Given the description of an element on the screen output the (x, y) to click on. 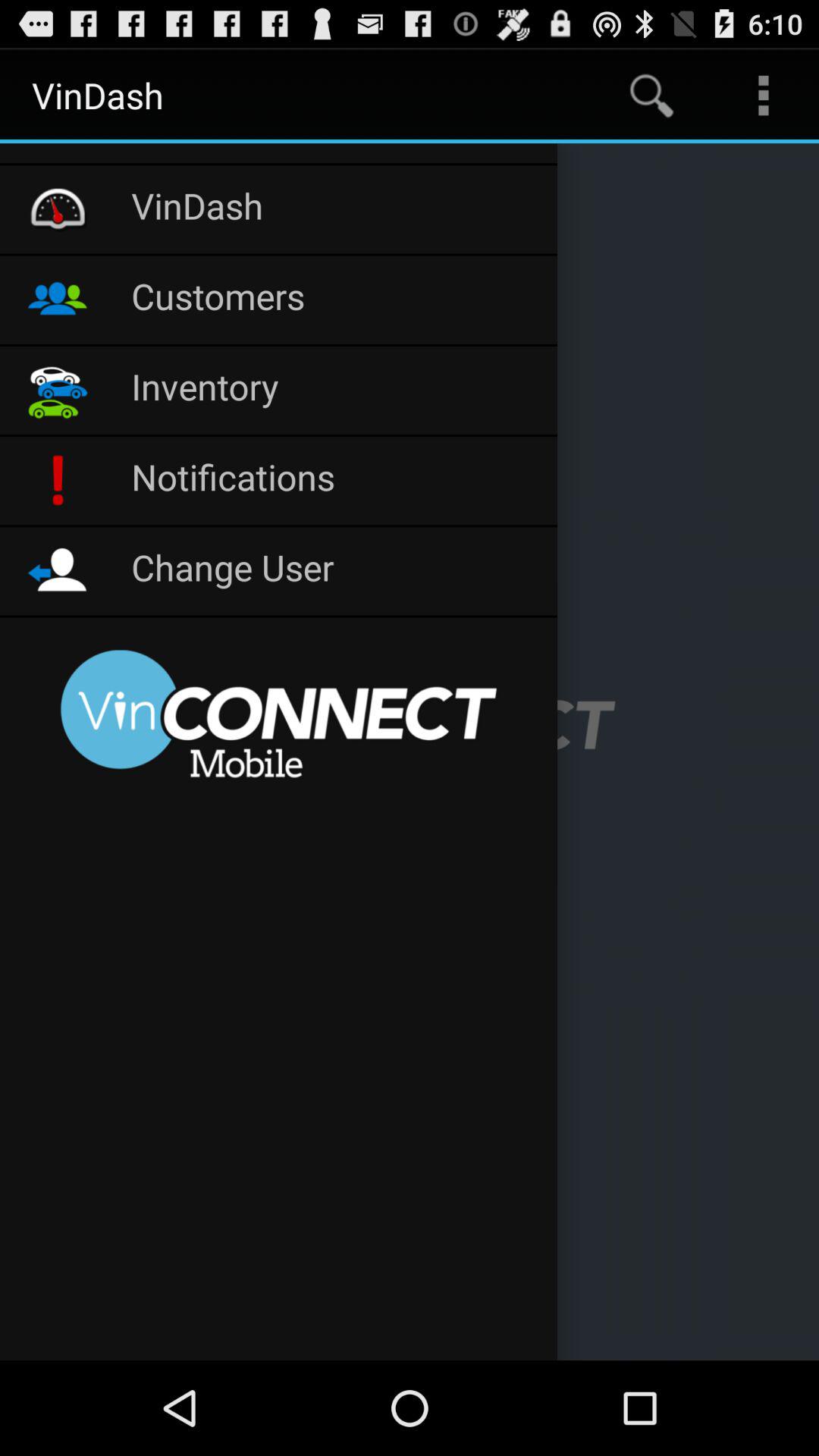
choose icon below the vindash item (336, 299)
